Given the description of an element on the screen output the (x, y) to click on. 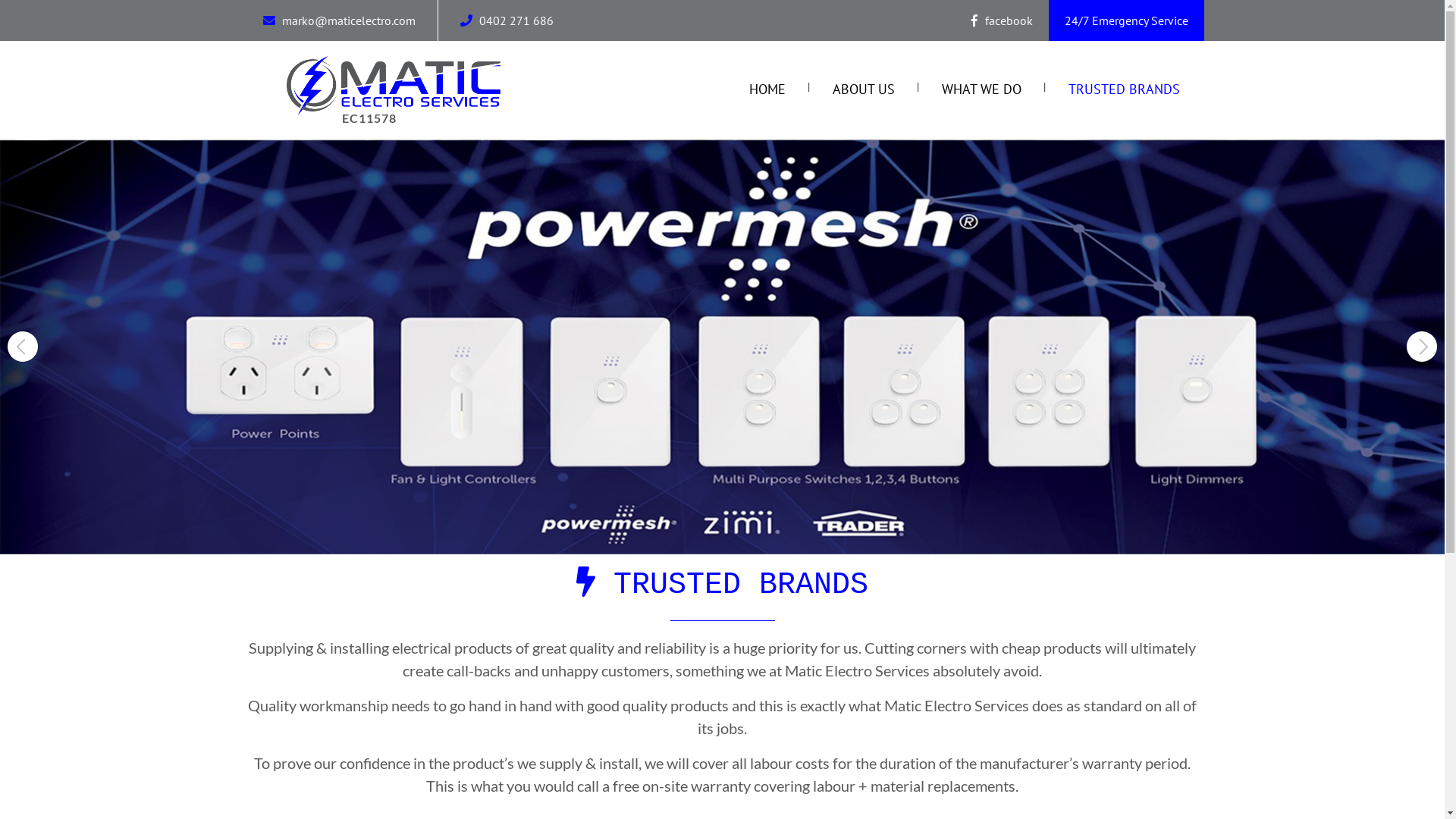
24/7 Emergency Service Element type: text (1126, 20)
EC11578 Element type: text (393, 91)
facebook Element type: text (1001, 20)
ABOUT US Element type: text (863, 88)
TRUSTED BRANDS Element type: text (1123, 88)
HOME Element type: text (767, 88)
marko@maticelectro.com Element type: text (347, 20)
0402 271 686 Element type: text (514, 20)
WHAT WE DO Element type: text (981, 88)
